Given the description of an element on the screen output the (x, y) to click on. 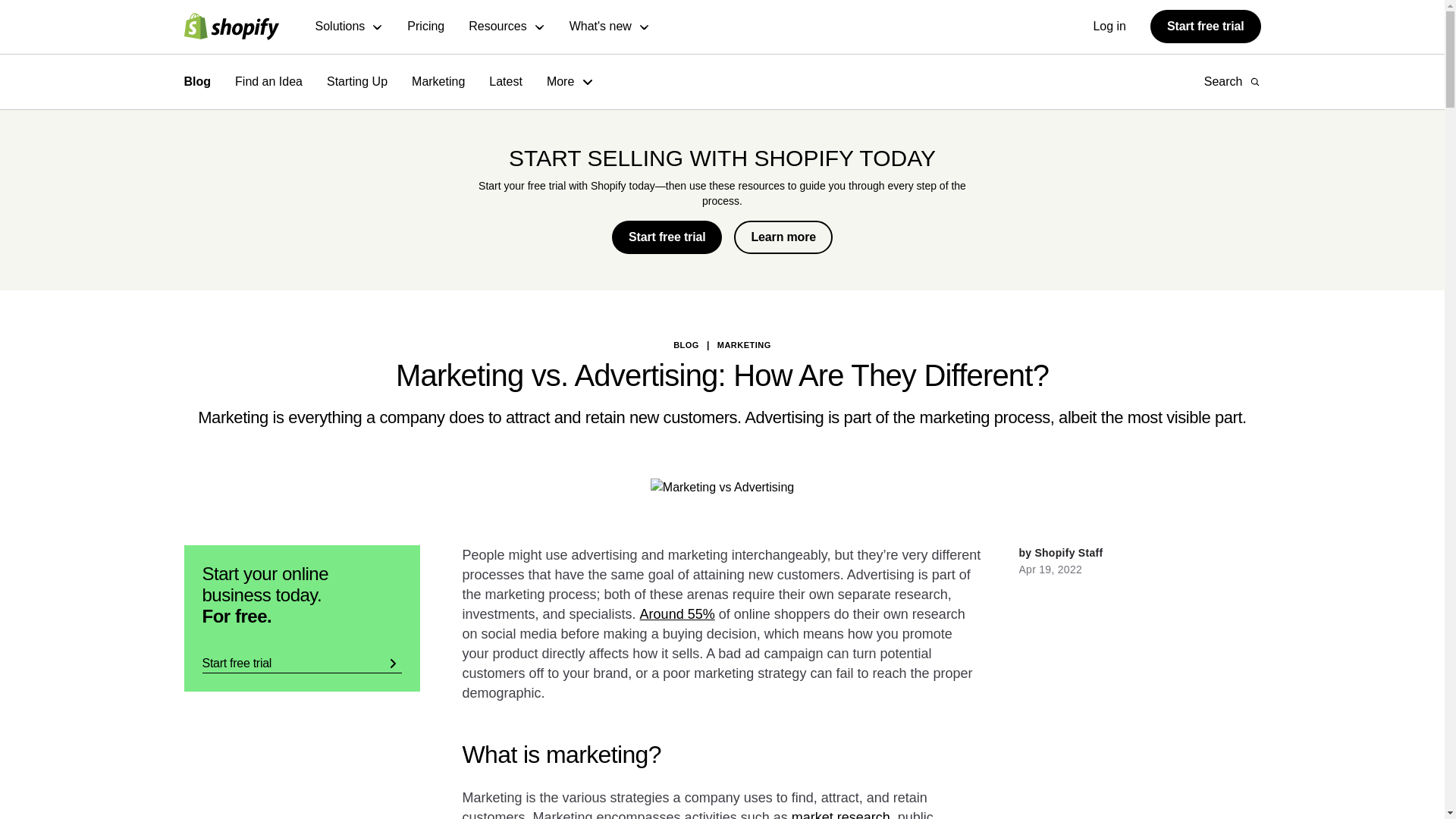
Resources (506, 27)
Solutions (349, 27)
